Given the description of an element on the screen output the (x, y) to click on. 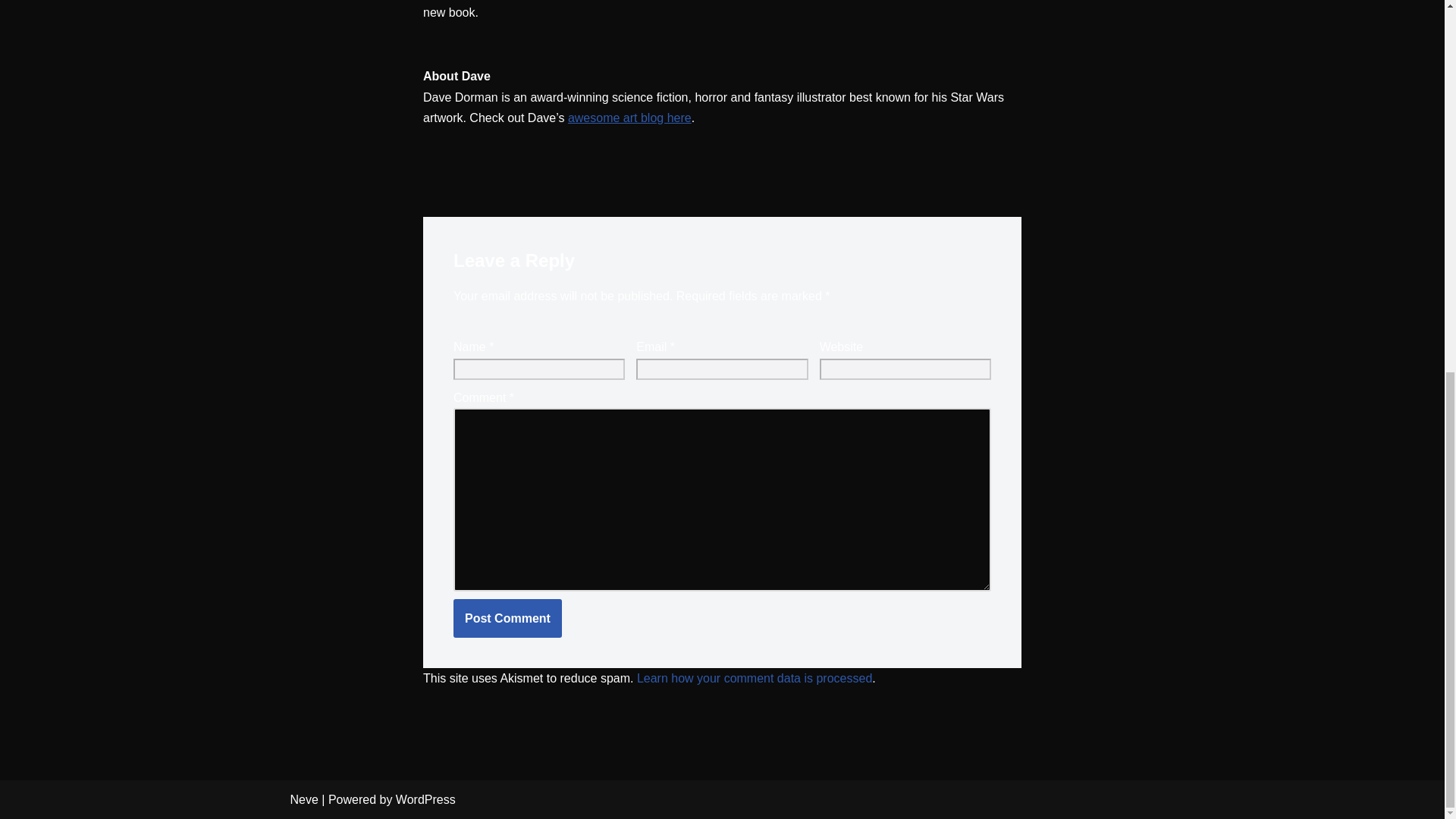
WordPress (425, 799)
Neve (303, 799)
Learn how your comment data is processed (754, 677)
Post Comment (507, 618)
awesome art blog here (629, 117)
Post Comment (507, 618)
